Given the description of an element on the screen output the (x, y) to click on. 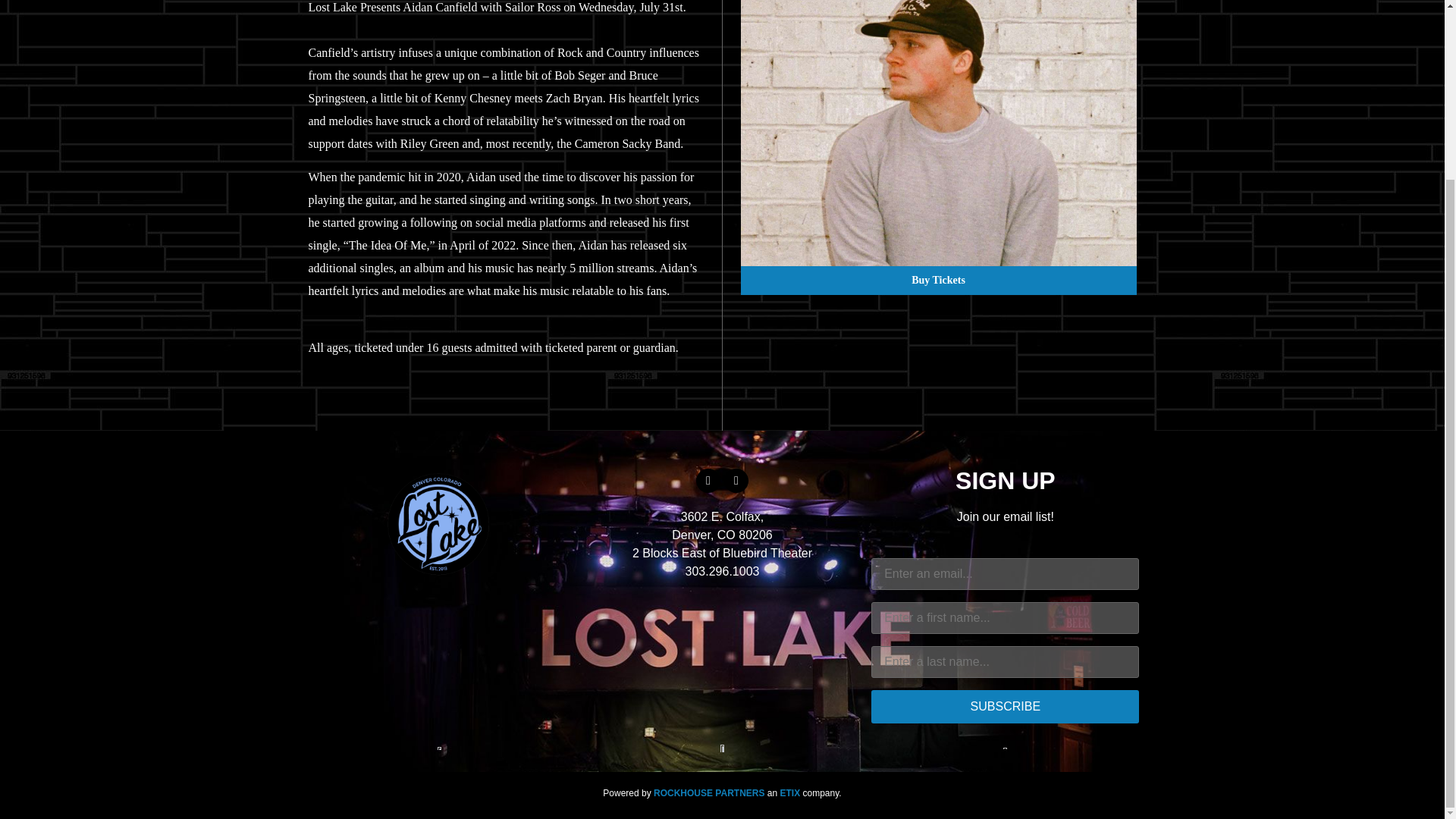
Buy Tickets (937, 280)
